Given the description of an element on the screen output the (x, y) to click on. 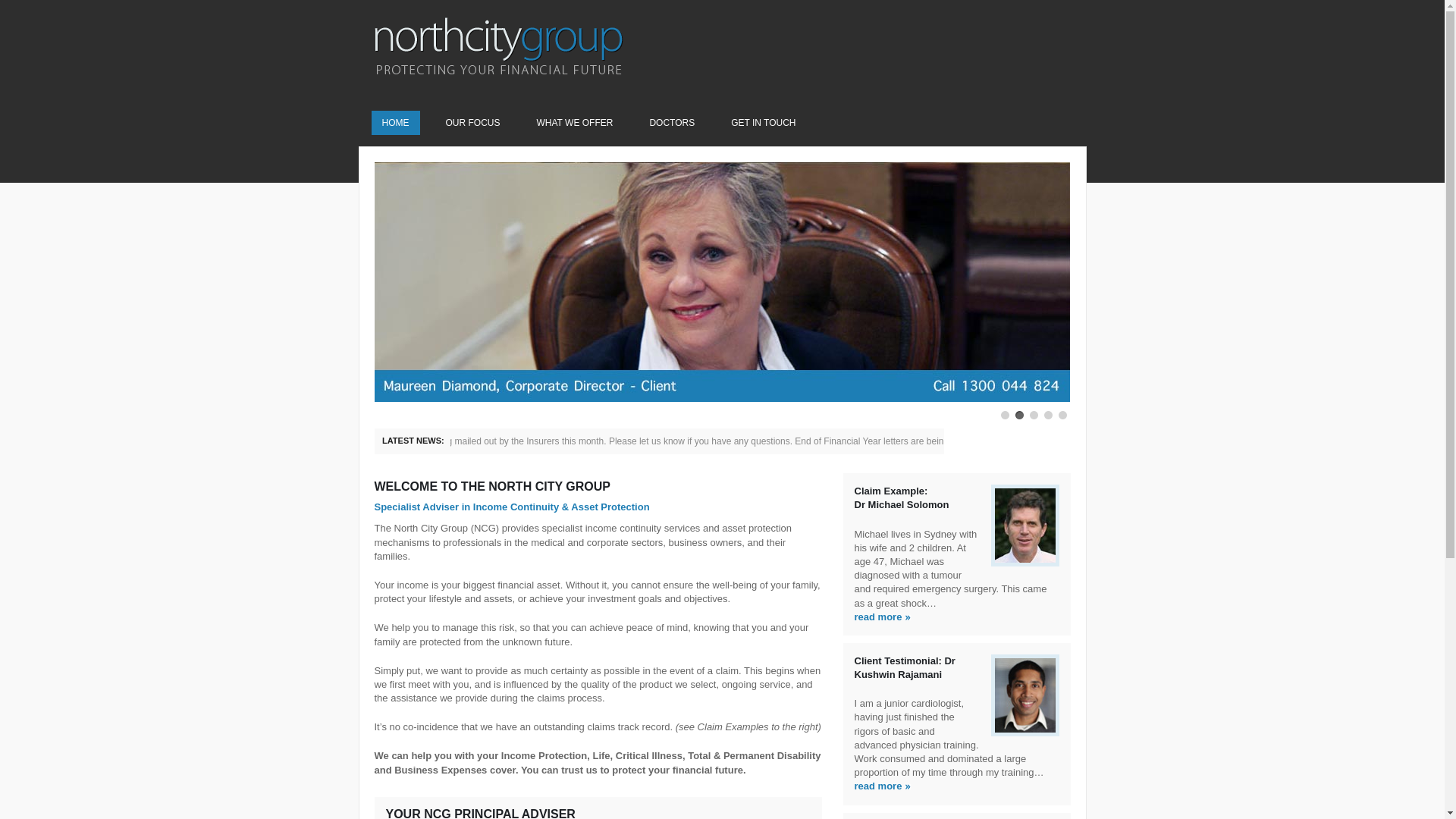
read more Element type: text (877, 785)
WHAT WE OFFER Element type: text (575, 122)
OUR FOCUS Element type: text (473, 122)
HOME Element type: text (395, 122)
read more Element type: text (877, 616)
DOCTORS Element type: text (671, 122)
GET IN TOUCH Element type: text (763, 122)
